Given the description of an element on the screen output the (x, y) to click on. 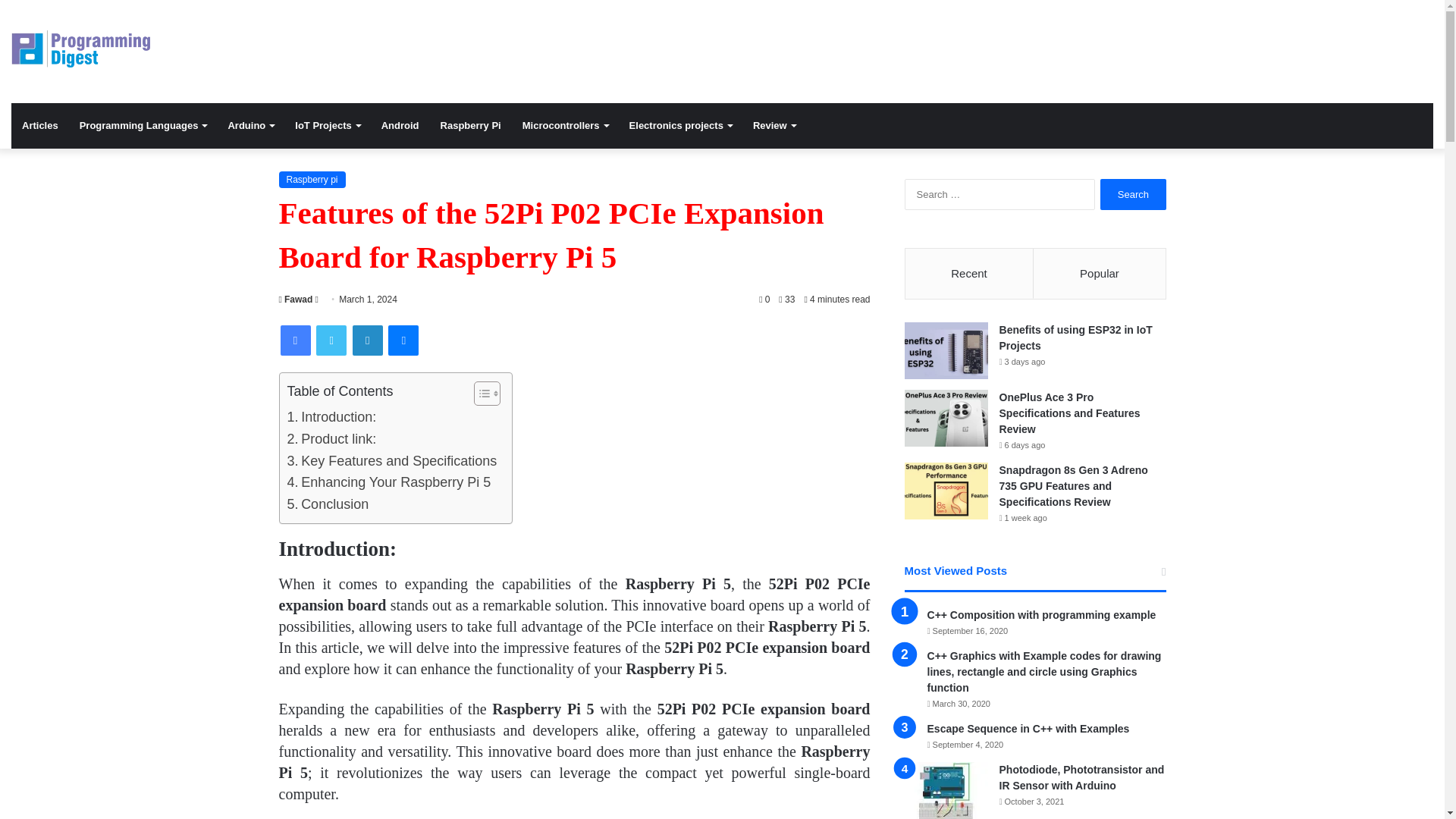
Introduction: (330, 417)
Search (1133, 194)
Microcontrollers (565, 125)
Twitter (330, 340)
Product link: (330, 439)
Conclusion (327, 504)
IoT Projects (326, 125)
Search (1133, 194)
Raspberry Pi (470, 125)
Programming Digest (80, 48)
